Given the description of an element on the screen output the (x, y) to click on. 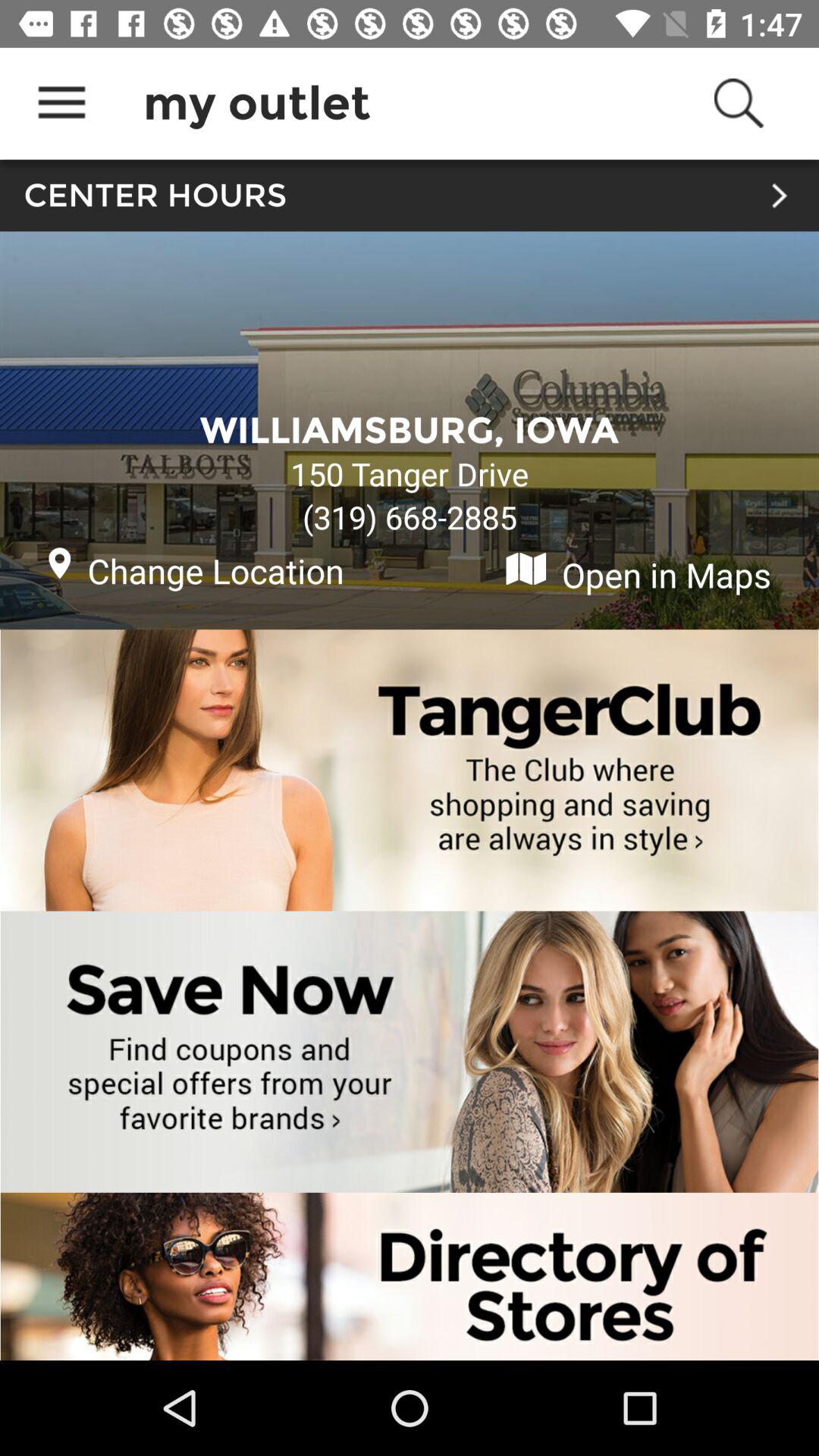
turn on the icon below the 150 tanger drive item (409, 516)
